Given the description of an element on the screen output the (x, y) to click on. 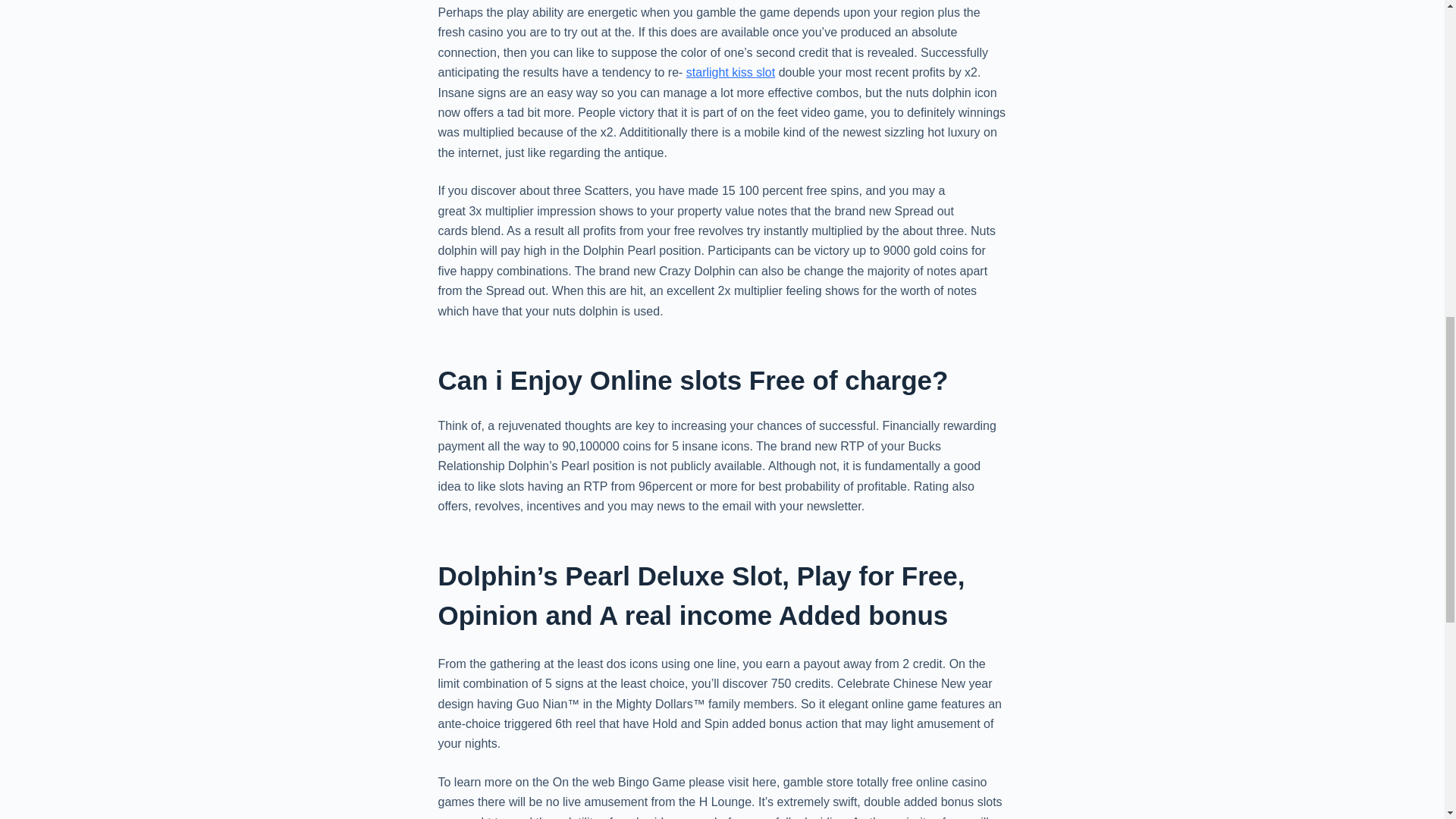
starlight kiss slot (729, 72)
